Given the description of an element on the screen output the (x, y) to click on. 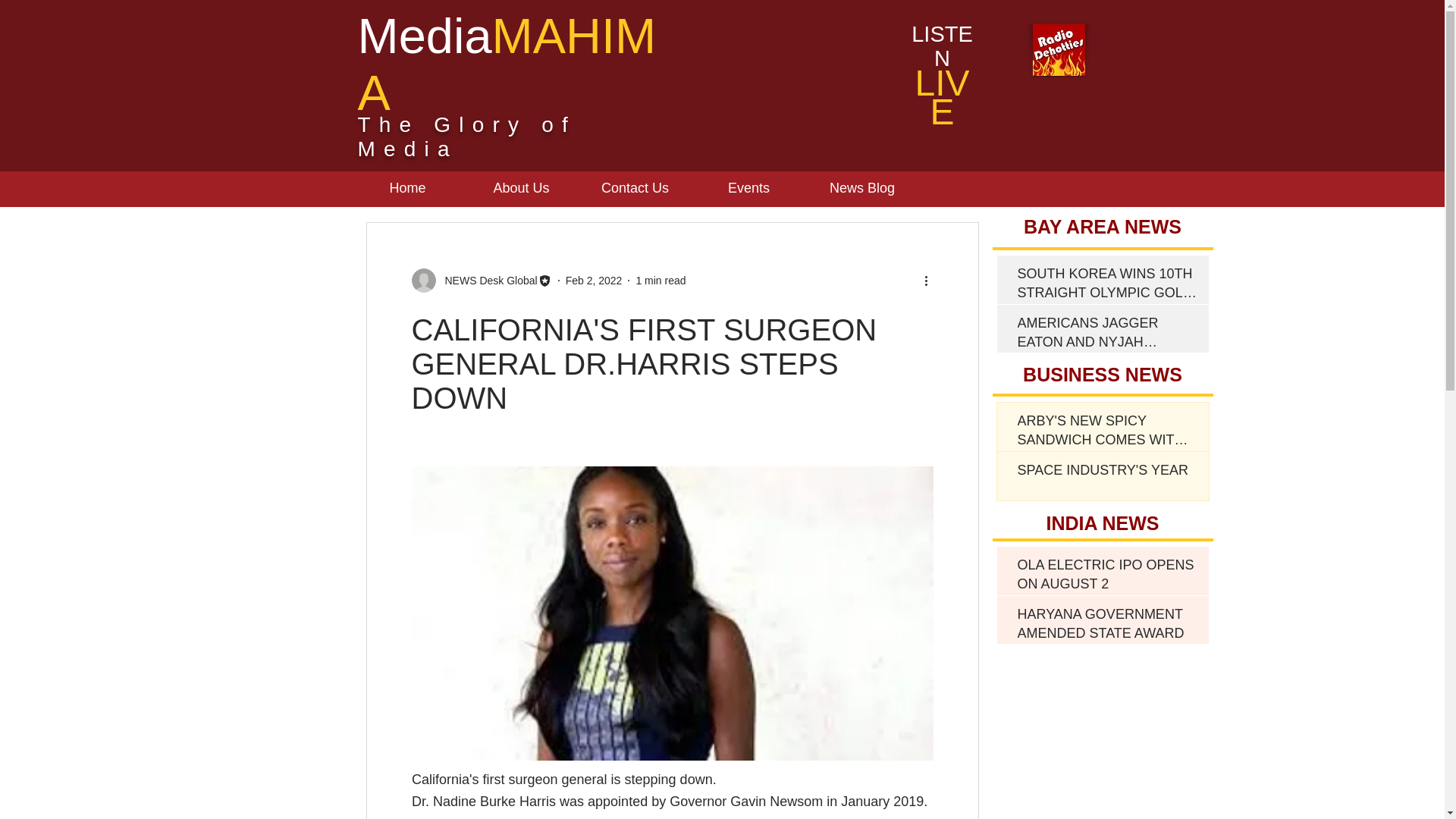
Contact Us (635, 187)
NEWS Desk Global (486, 280)
OLA ELECTRIC IPO OPENS ON AUGUST 2 (1106, 577)
Events (748, 187)
About Us (521, 187)
Home (407, 187)
SPACE INDUSTRY'S YEAR (1106, 473)
Feb 2, 2022 (594, 280)
News Blog (861, 187)
ARBY'S NEW SPICY SANDWICH COMES WITH A MILKSHAKE (1106, 433)
1 min read (659, 280)
MediaMAHIMA (507, 64)
